Given the description of an element on the screen output the (x, y) to click on. 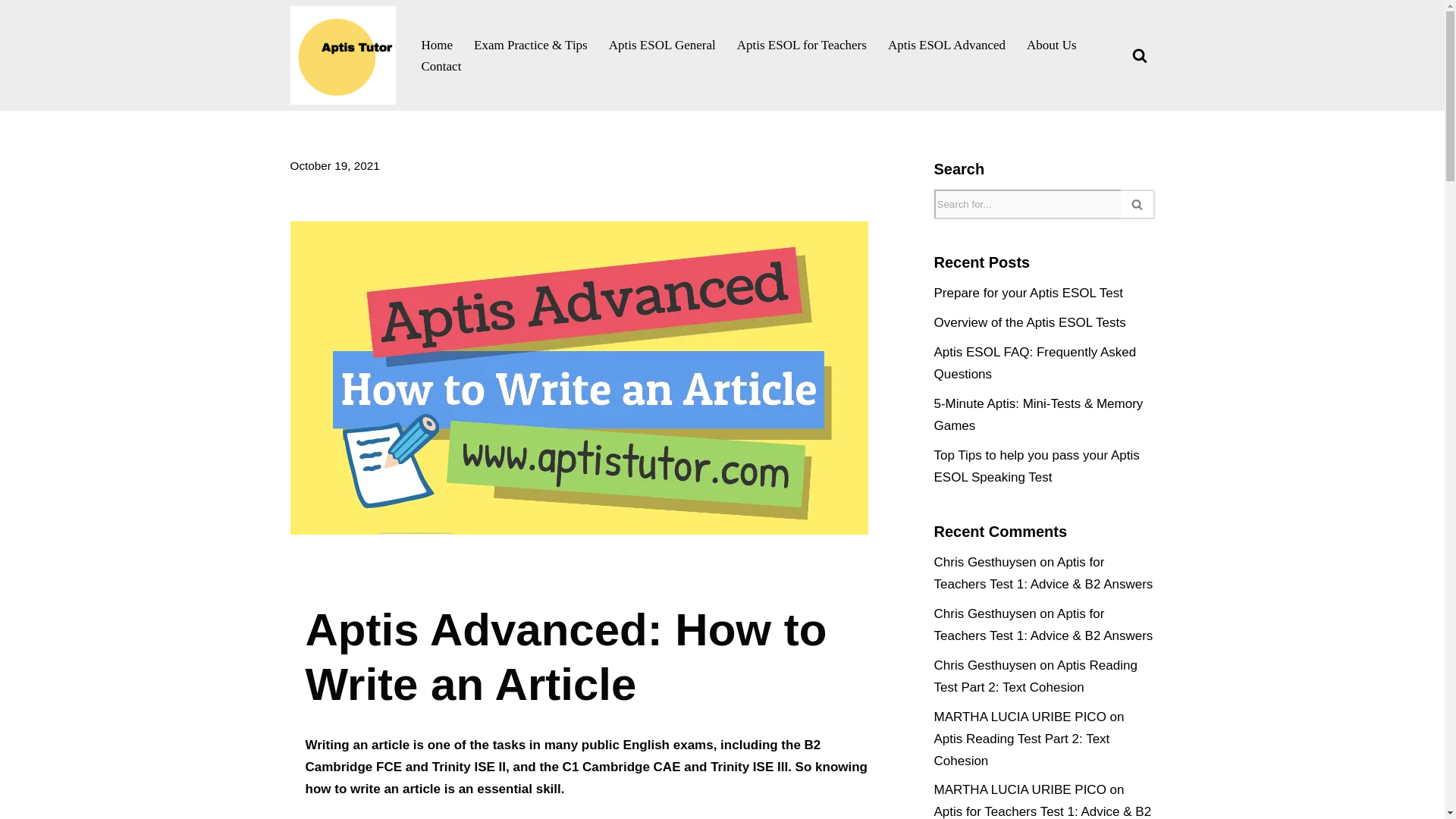
Aptis ESOL for Teachers (801, 44)
Home (437, 44)
About Us (1051, 44)
Aptis ESOL General (662, 44)
Aptis ESOL FAQ: Frequently Asked Questions (1035, 362)
Prepare for your Aptis ESOL Test (1028, 292)
Contact (441, 65)
Skip to content (11, 31)
Overview of the Aptis ESOL Tests (1029, 322)
Aptis ESOL Advanced (947, 44)
